Given the description of an element on the screen output the (x, y) to click on. 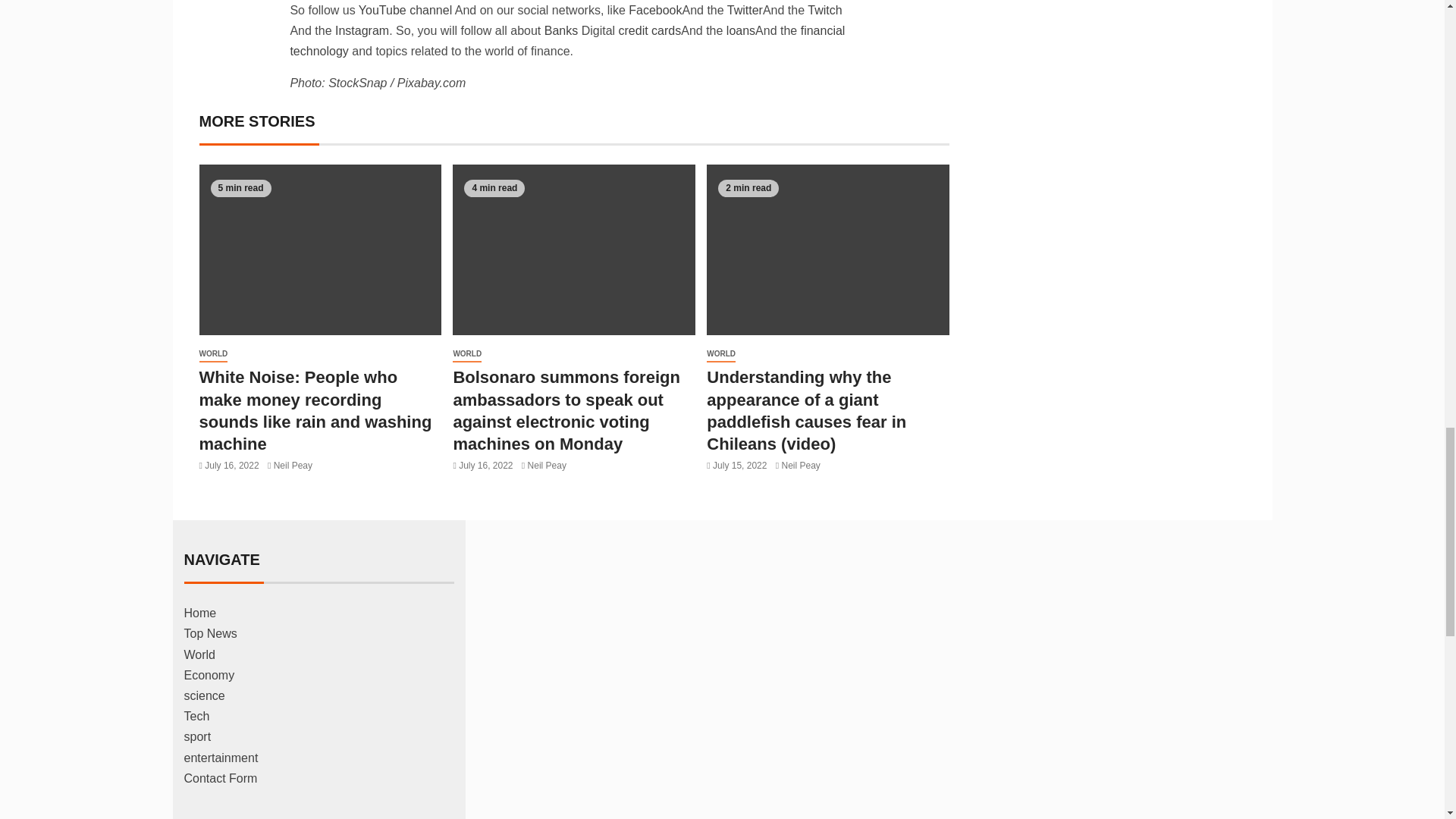
Twitter (742, 10)
YouTube channel (403, 10)
Instagram (360, 30)
loans (738, 30)
Twitch (824, 10)
Bancos (561, 30)
Banks (561, 30)
WORLD (212, 354)
financial technology (566, 40)
Facebook (654, 10)
credit cards (647, 30)
